Given the description of an element on the screen output the (x, y) to click on. 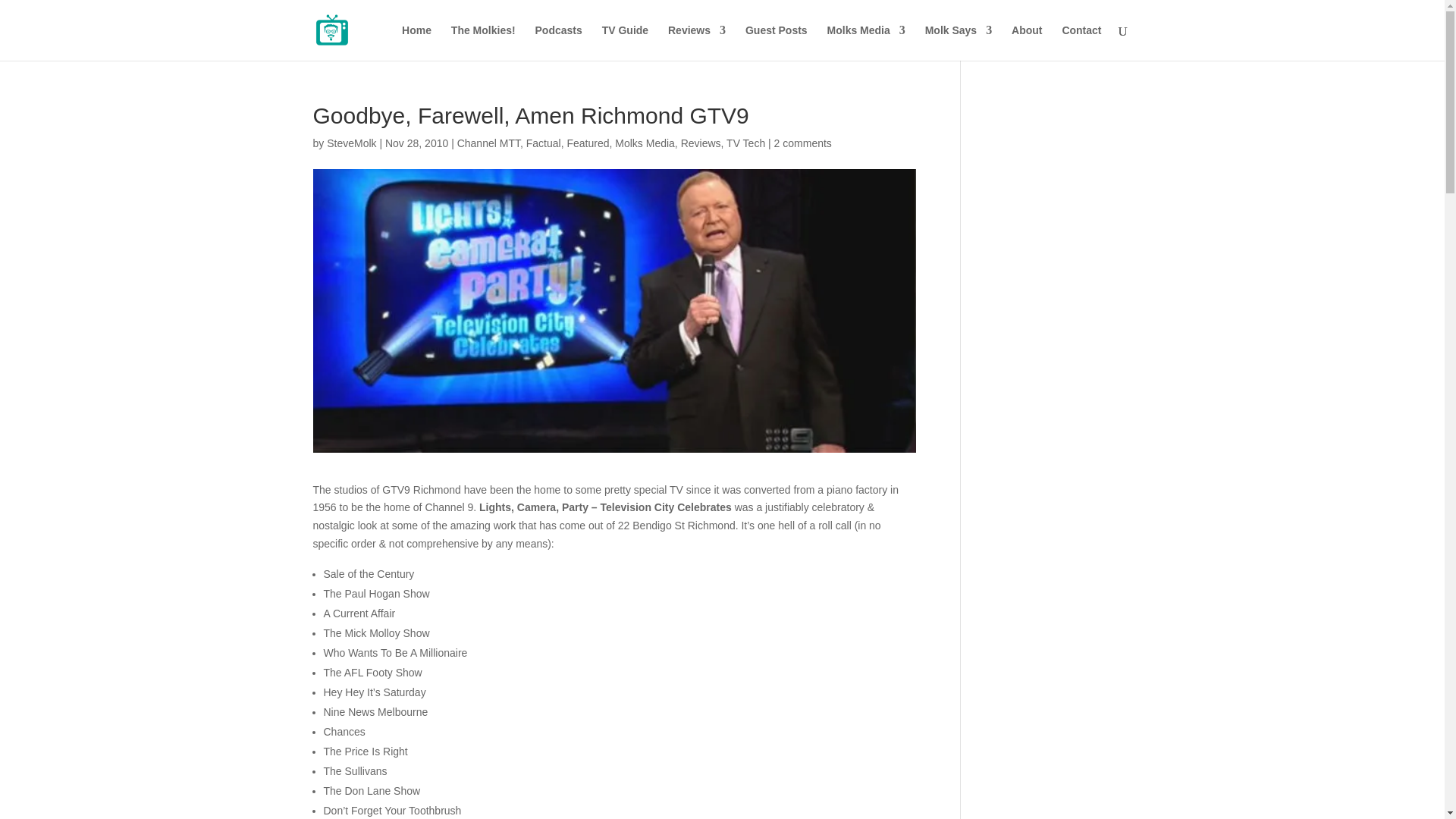
Contact (1080, 42)
SteveMolk (350, 143)
TV Guide (624, 42)
Posts by SteveMolk (350, 143)
Molk Says (957, 42)
The Molkies! (483, 42)
Molks Media (866, 42)
Reviews (696, 42)
Guest Posts (776, 42)
Podcasts (558, 42)
